Given the description of an element on the screen output the (x, y) to click on. 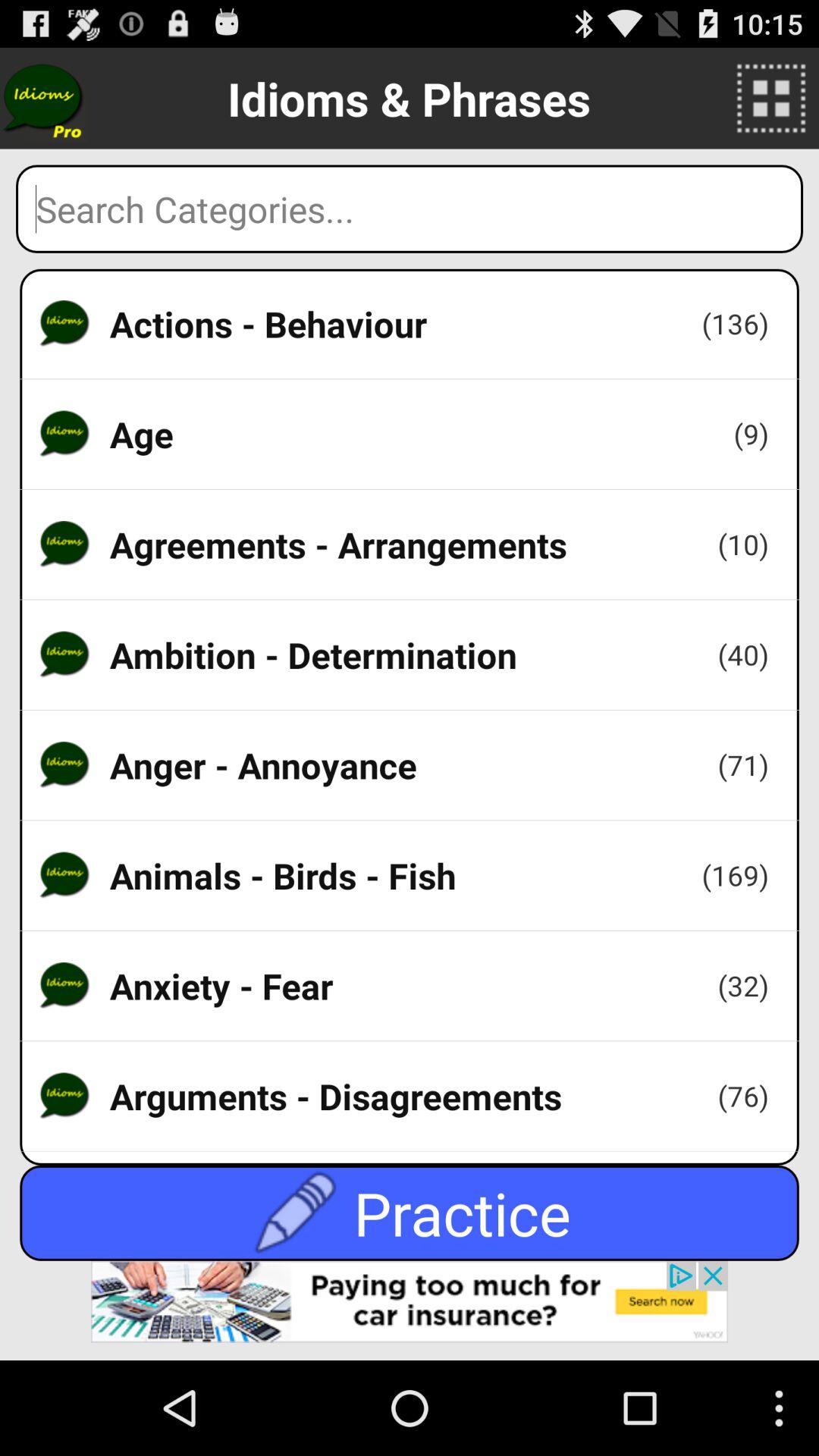
advertisement (409, 1310)
